Given the description of an element on the screen output the (x, y) to click on. 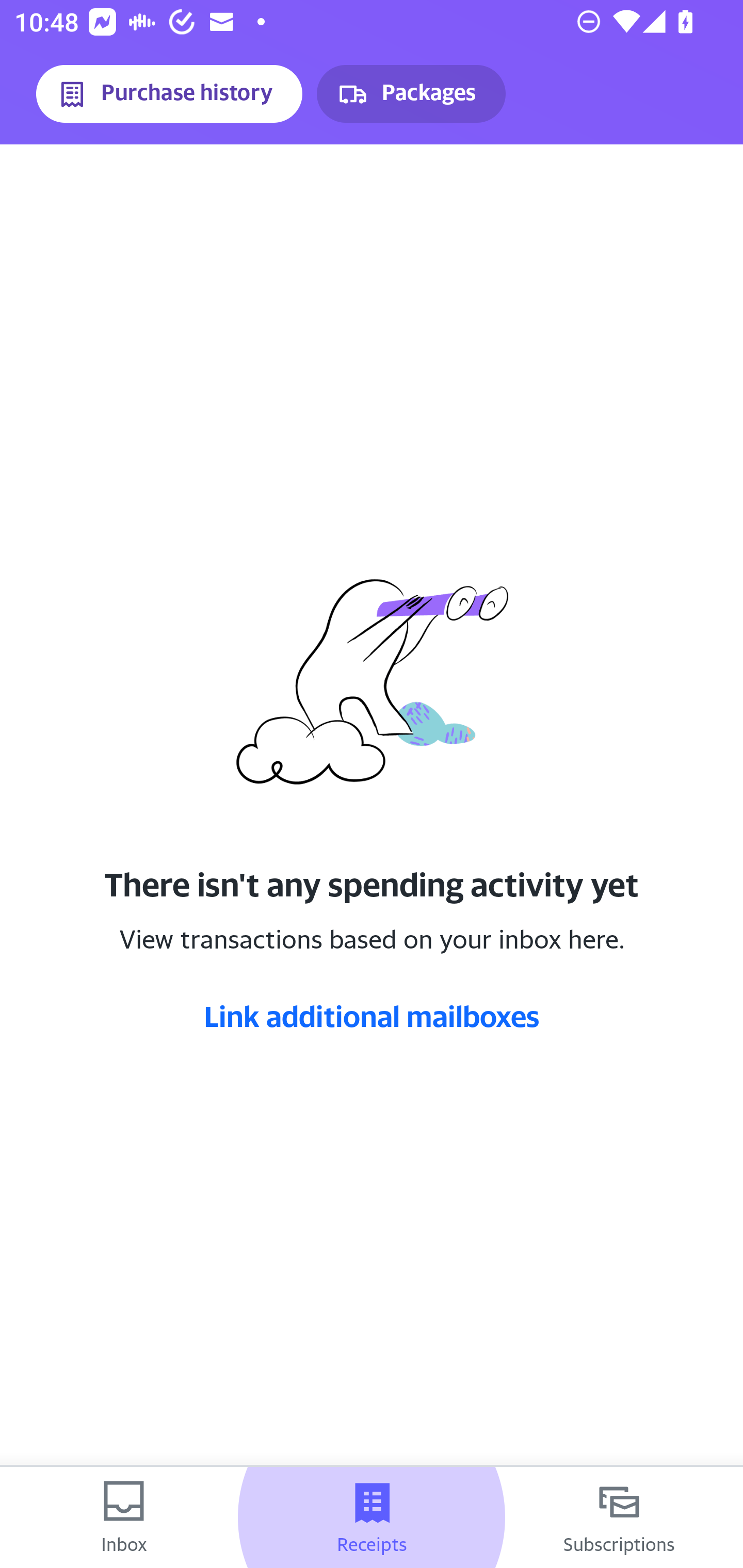
Packages (410, 93)
Link additional mailboxes (371, 1015)
Inbox (123, 1517)
Receipts (371, 1517)
Subscriptions (619, 1517)
